Given the description of an element on the screen output the (x, y) to click on. 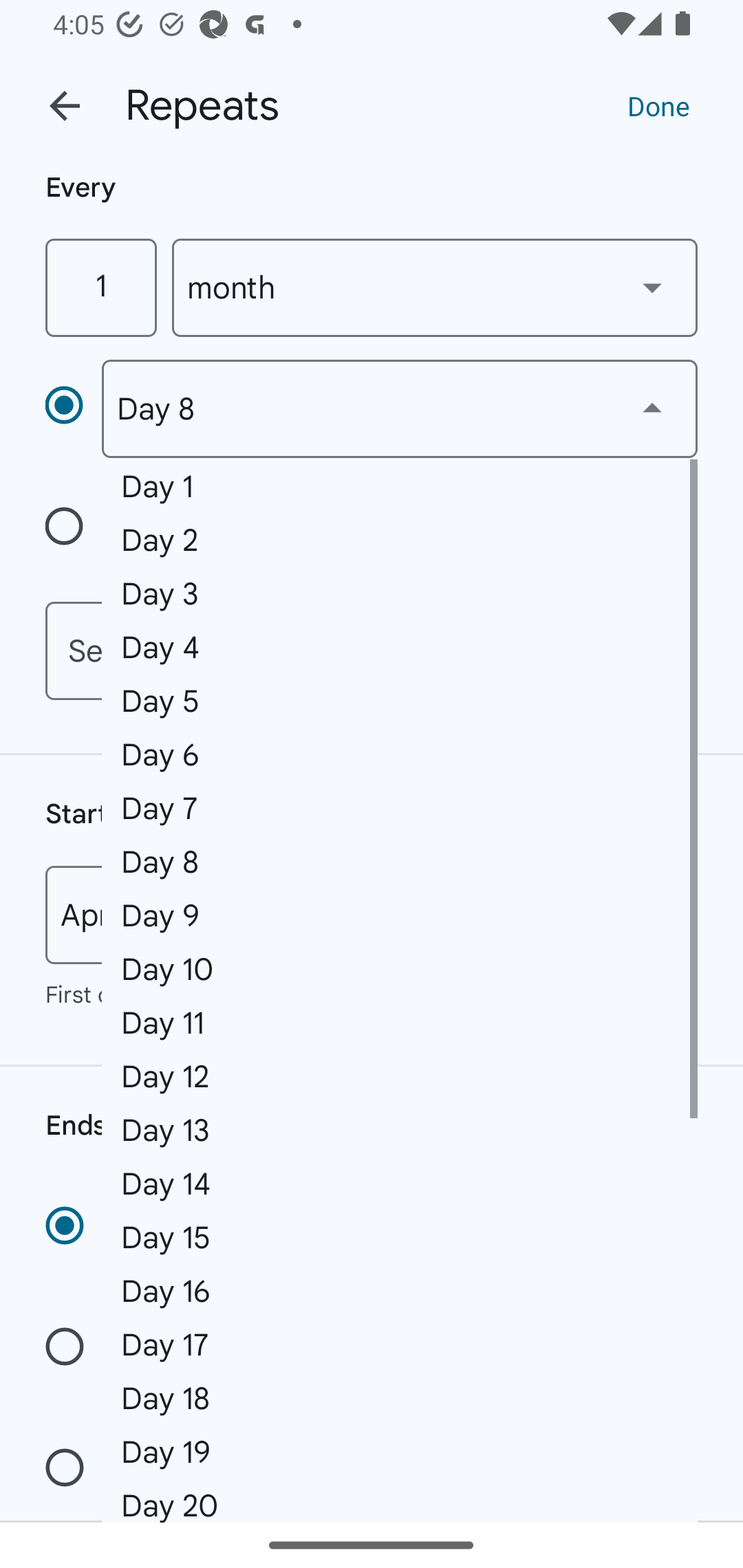
Back (64, 105)
Done (658, 105)
1 (100, 287)
month (434, 287)
Show dropdown menu (652, 286)
Day 8 (399, 408)
Show dropdown menu (652, 408)
Repeat monthly on a specific day of the month (73, 408)
Repeat monthly on a specific weekday (73, 529)
